Given the description of an element on the screen output the (x, y) to click on. 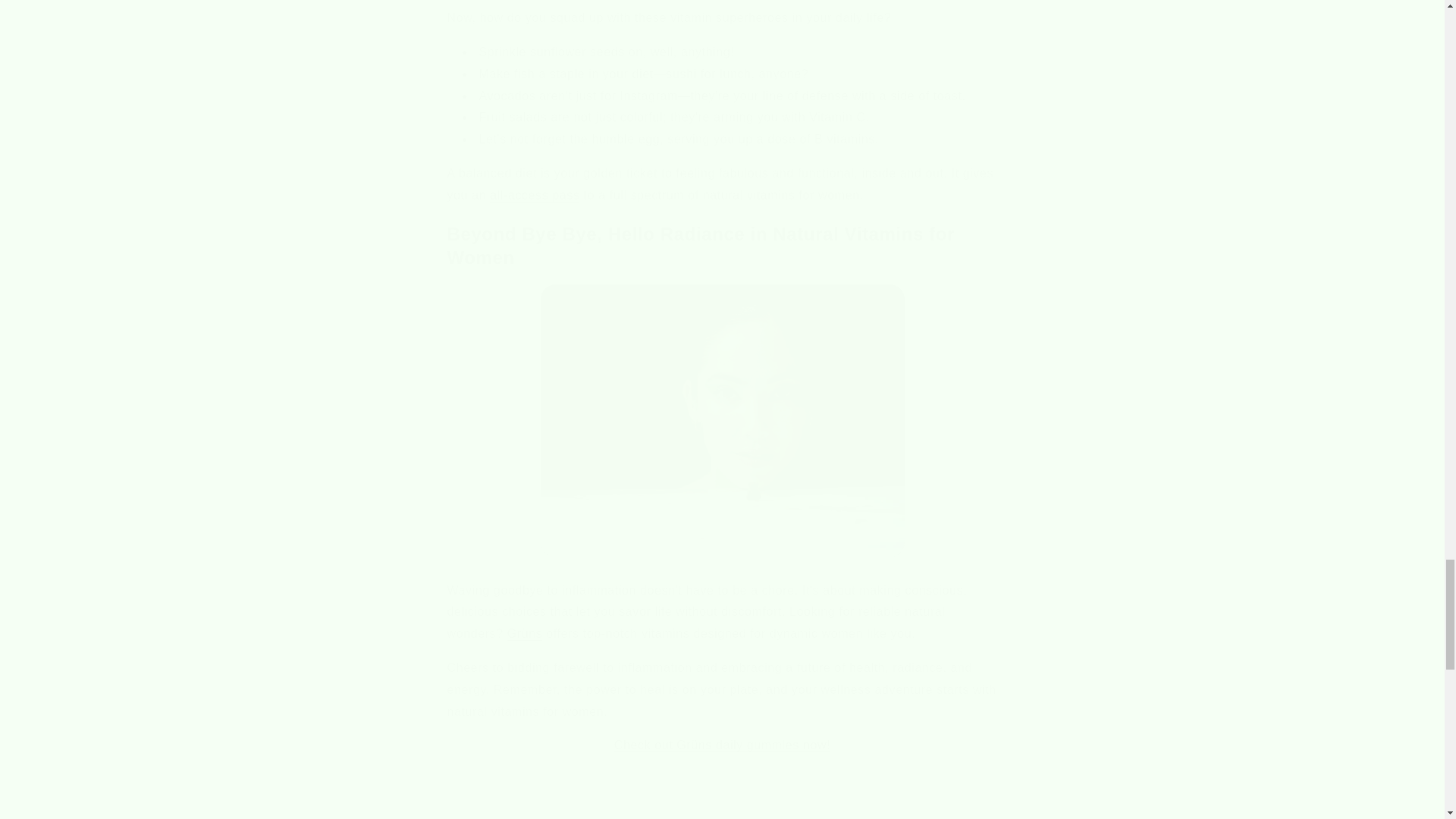
women's best- gruns (534, 195)
all-access pass (534, 195)
women's best- gruns (524, 633)
natural vitamins for women- Gruns (722, 420)
women's best- gruns (721, 744)
